Given the description of an element on the screen output the (x, y) to click on. 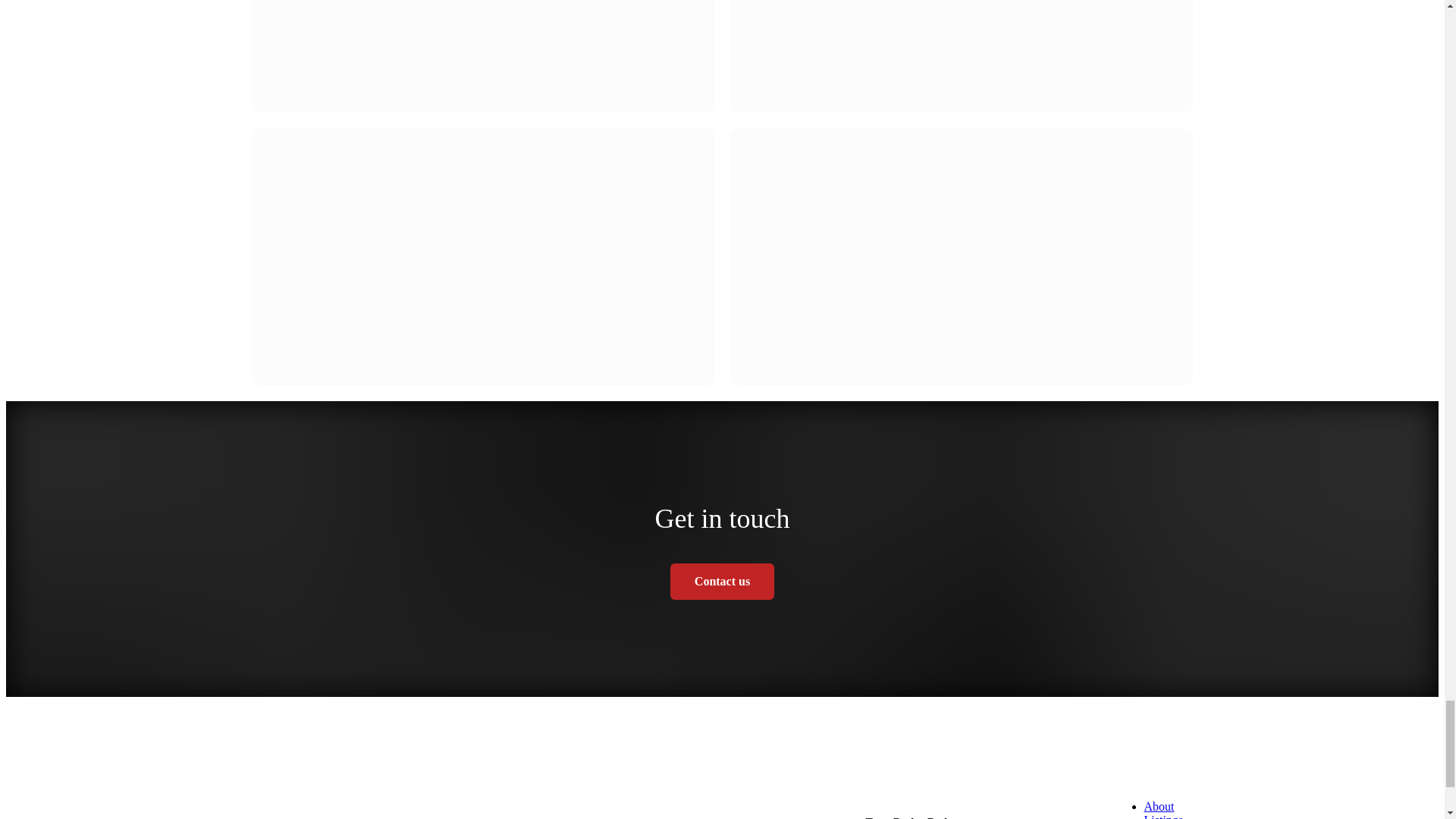
About (1157, 806)
Listings (1162, 816)
Contact us (721, 581)
